Given the description of an element on the screen output the (x, y) to click on. 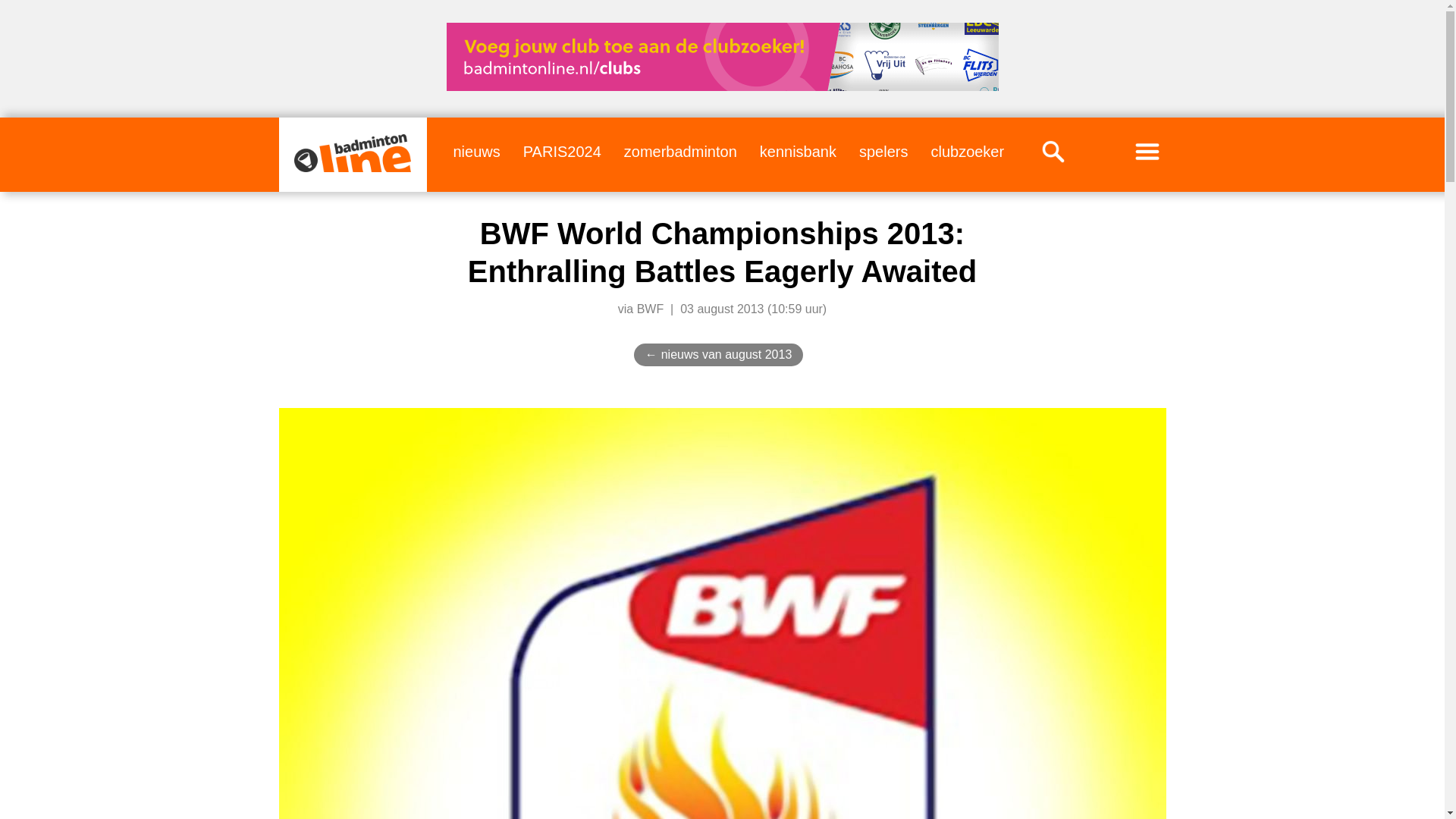
spelers (883, 151)
nieuws (476, 151)
Olympische Zomerspelen Parijs 2024 (561, 151)
badmintonclubs (967, 151)
clubzoeker (721, 56)
kennisbank (797, 151)
badmintonline.nl (352, 152)
nieuws van august 2013 (726, 354)
zomerbadminton 2024 (680, 151)
zoeken (1052, 151)
zomerbadminton (680, 151)
badmintonnieuws (476, 151)
PARIS2024 (561, 151)
spelersprofielen (883, 151)
clubzoeker (967, 151)
